Given the description of an element on the screen output the (x, y) to click on. 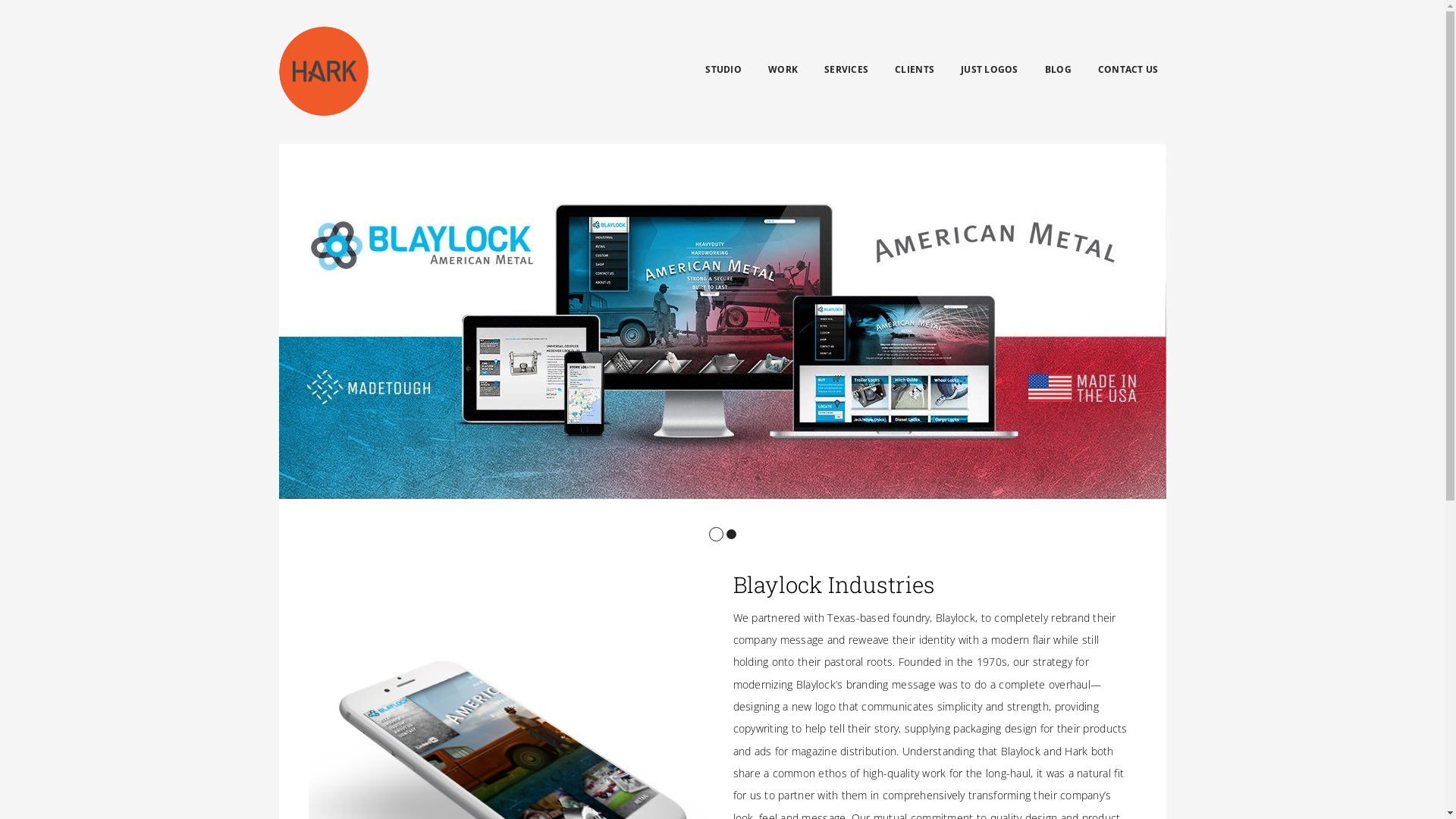
SERVICES Element type: text (846, 69)
JUST LOGOS Element type: text (989, 69)
CLIENTS Element type: text (914, 69)
STUDIO Element type: text (723, 69)
CONTACT US Element type: text (1128, 69)
BLOG Element type: text (1057, 69)
WORK Element type: text (782, 69)
